Given the description of an element on the screen output the (x, y) to click on. 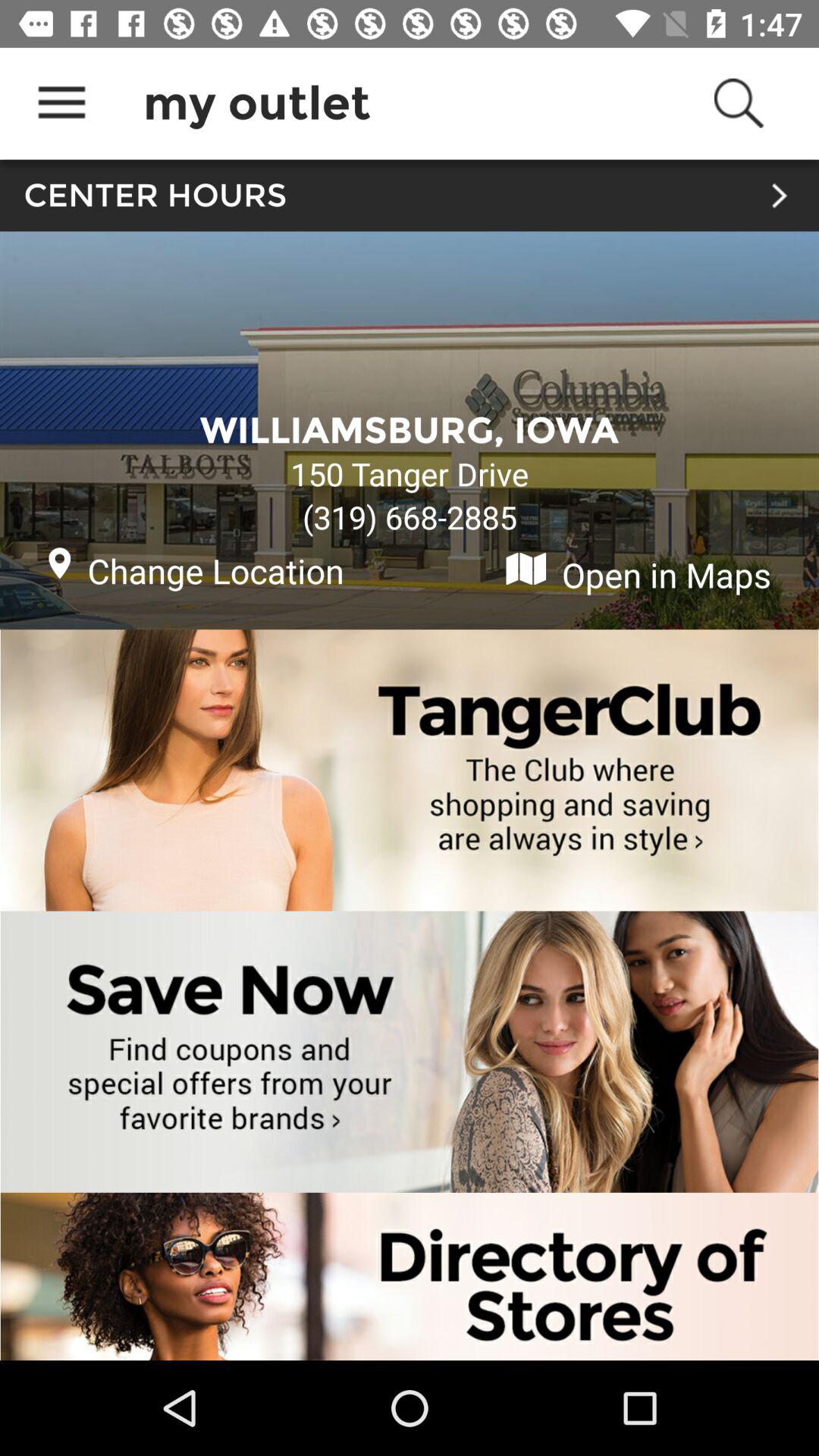
choose the icon above center hours (61, 103)
